Given the description of an element on the screen output the (x, y) to click on. 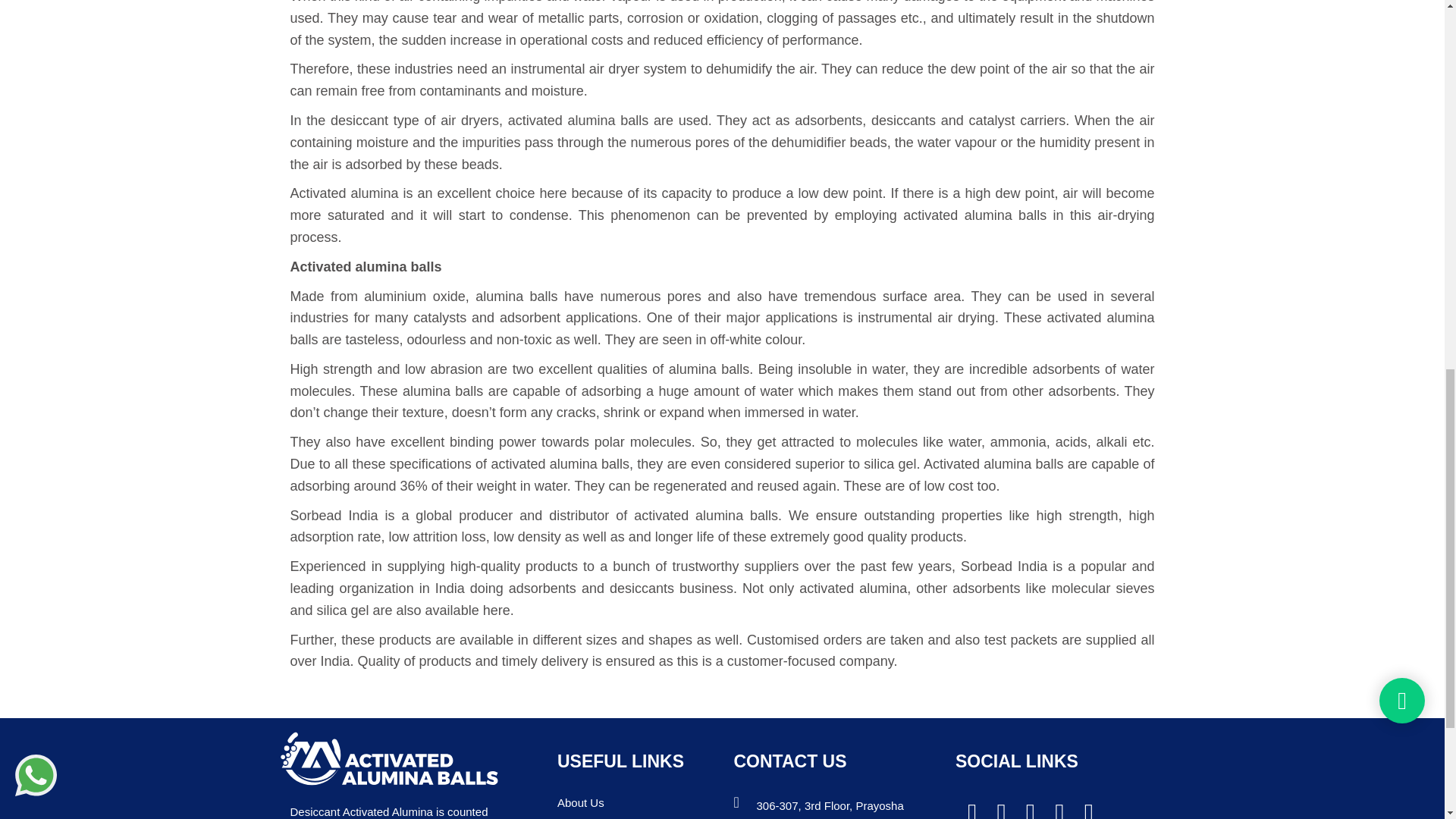
About Us (580, 802)
Go to our Facebook (965, 808)
Go to our Twitter (995, 808)
Go to our Instagram (1053, 808)
Go to our Youtube (1082, 808)
Go to our Linkedin (1024, 808)
